Given the description of an element on the screen output the (x, y) to click on. 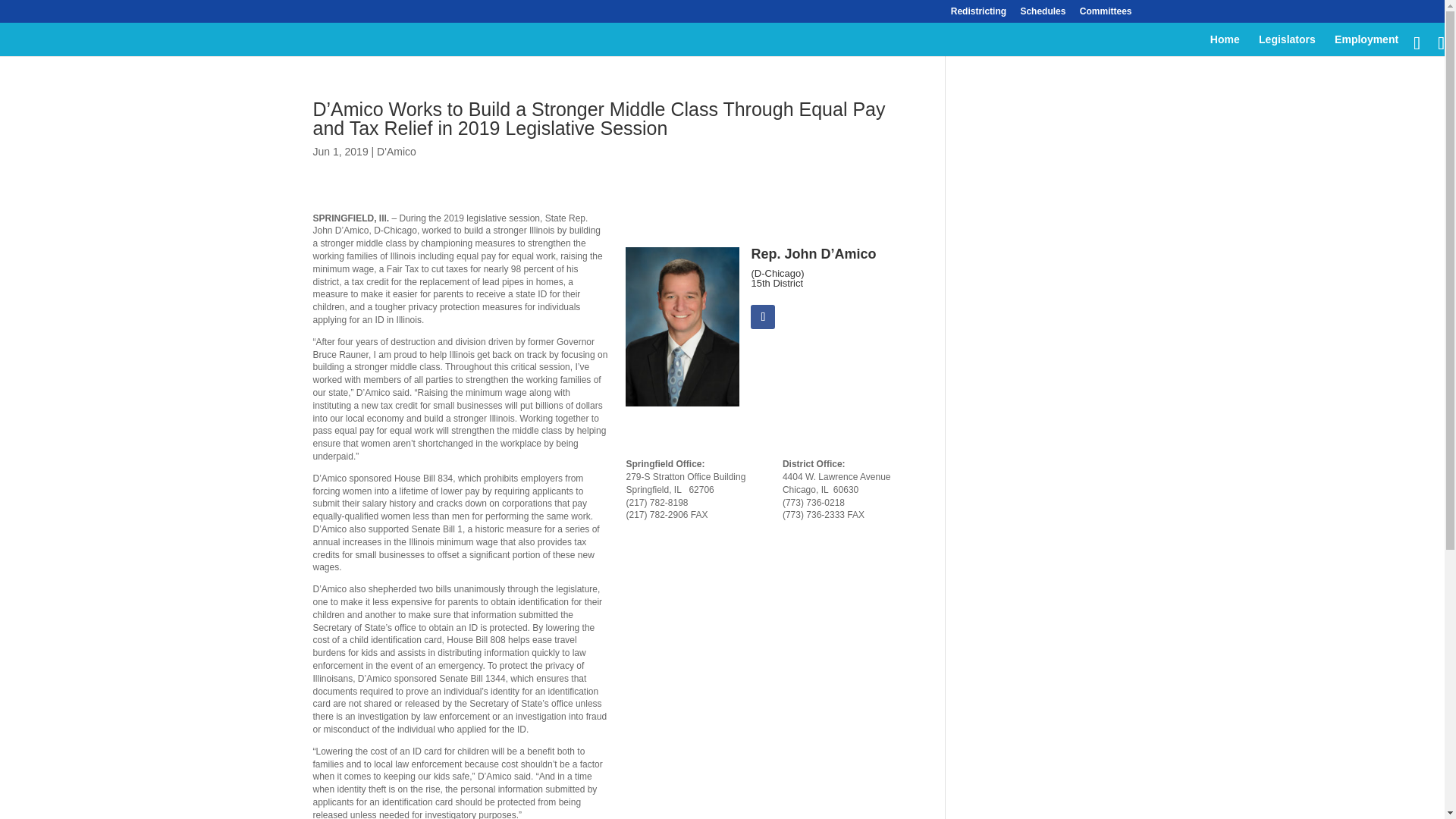
Committees (1106, 14)
Follow on Facebook (762, 316)
Home (1224, 45)
Legislators (1287, 45)
Schedules (1042, 14)
D'Amico (396, 151)
Redistricting (978, 14)
Employment (1366, 45)
